Given the description of an element on the screen output the (x, y) to click on. 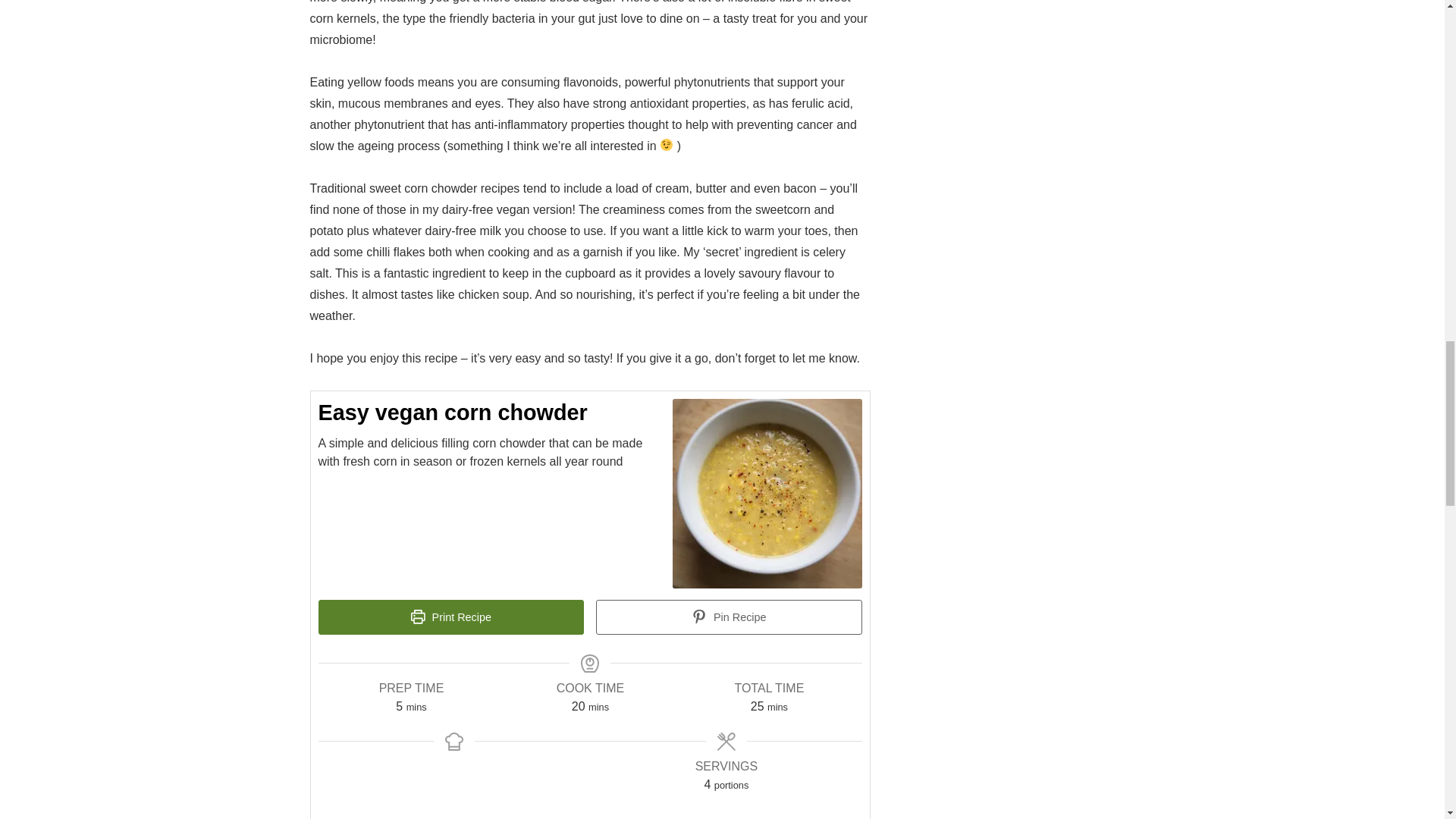
Pin Recipe (728, 616)
Print Recipe (451, 616)
